Given the description of an element on the screen output the (x, y) to click on. 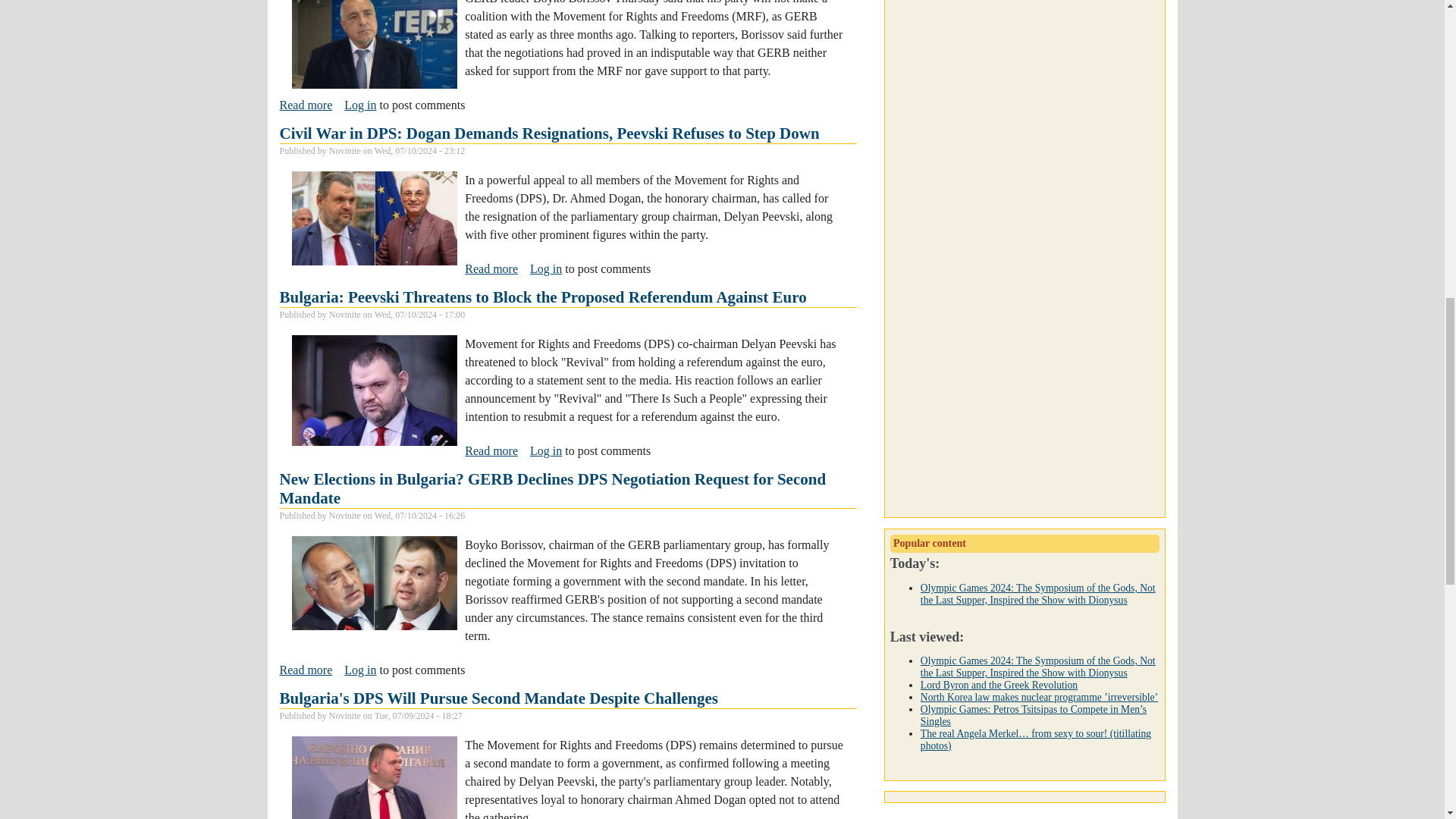
Log in (545, 450)
Log in (359, 104)
Log in (545, 268)
